Given the description of an element on the screen output the (x, y) to click on. 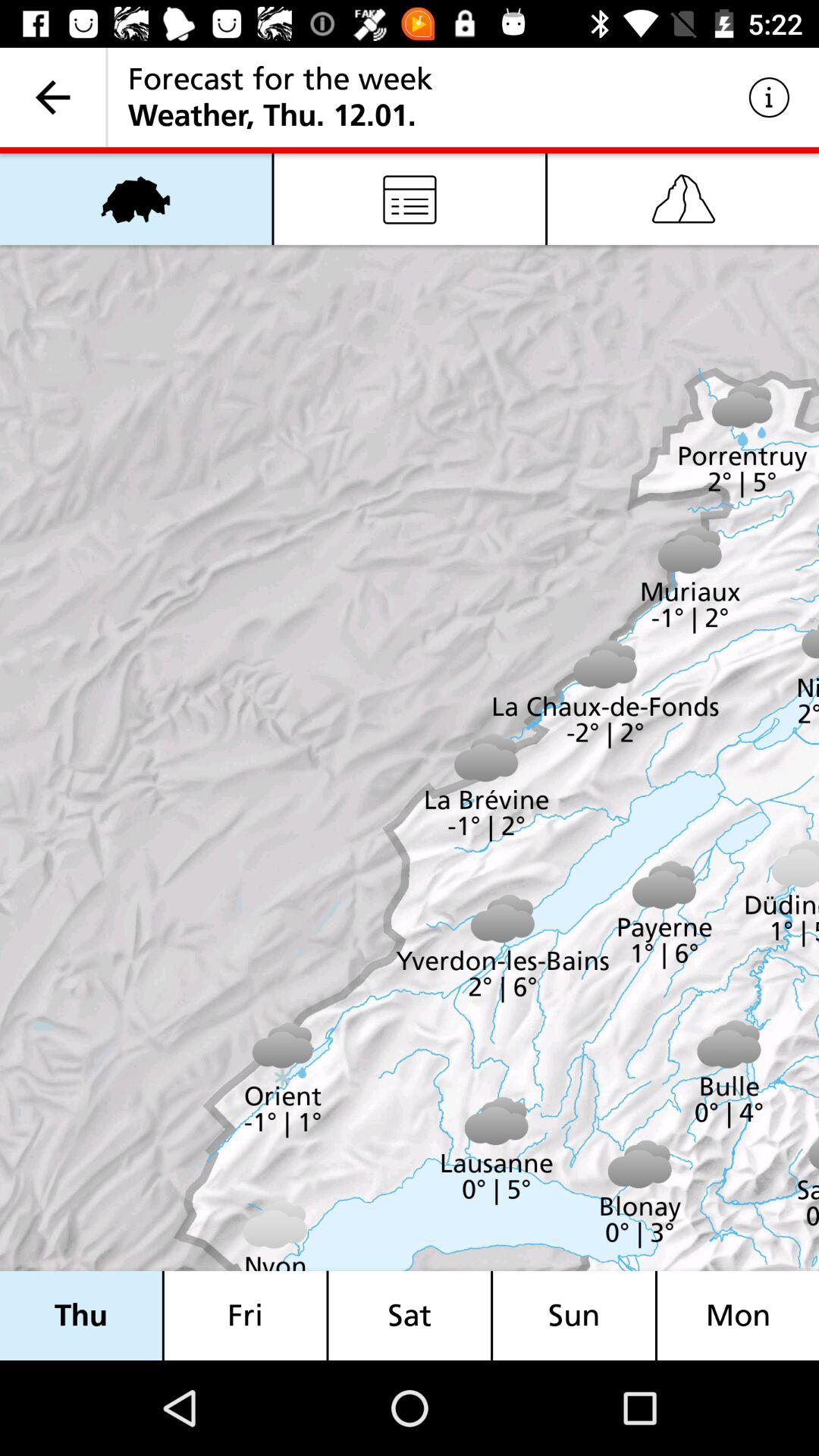
turn off icon to the right of the fri item (409, 1315)
